Given the description of an element on the screen output the (x, y) to click on. 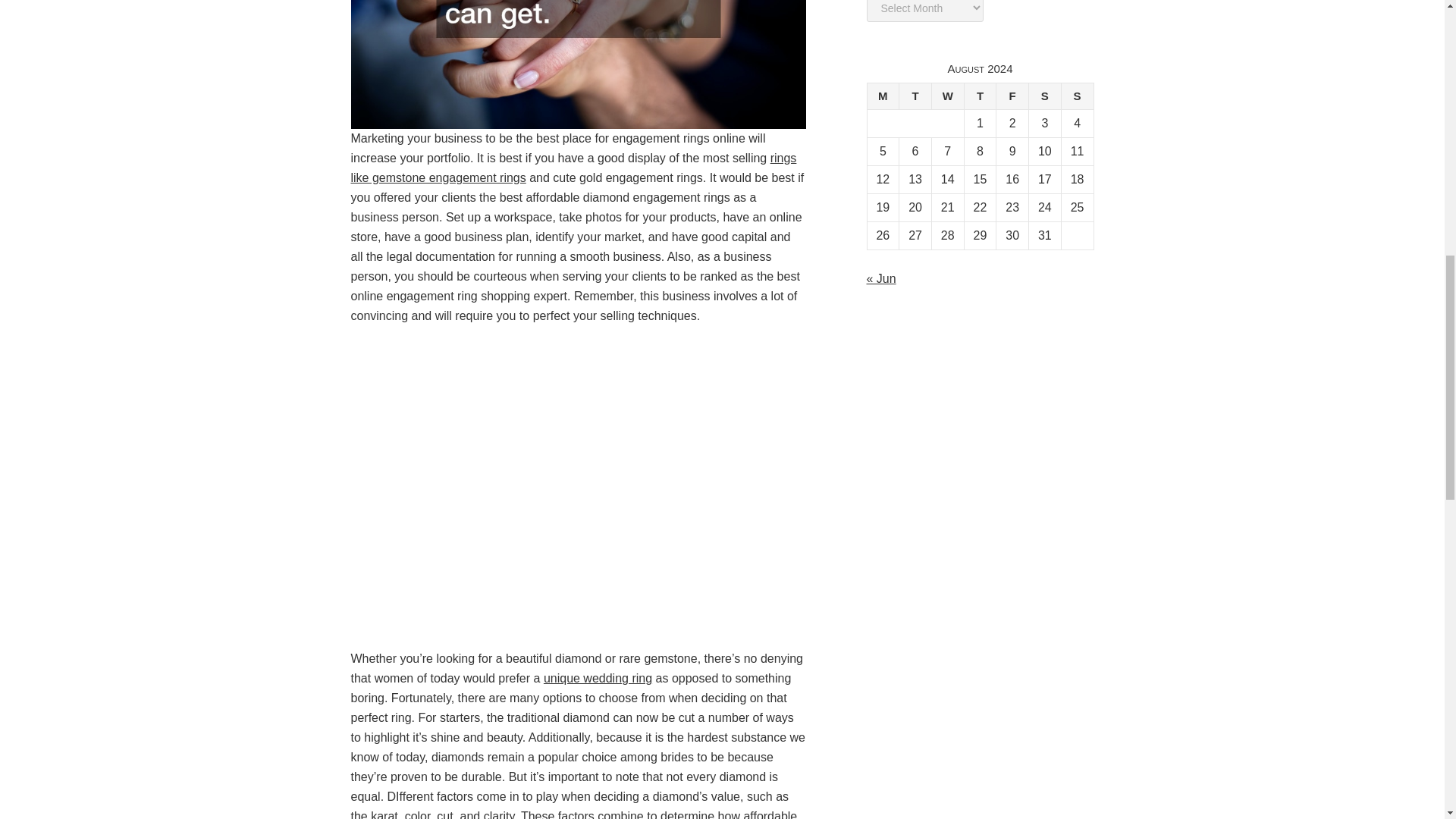
Friday (1012, 95)
Diamond jeweler, Custom jewelry design (597, 677)
rings like gemstone engagement rings (573, 167)
Wednesday (947, 95)
Thursday (979, 95)
unique wedding ring (597, 677)
Monday (882, 95)
Tuesday (915, 95)
